Given the description of an element on the screen output the (x, y) to click on. 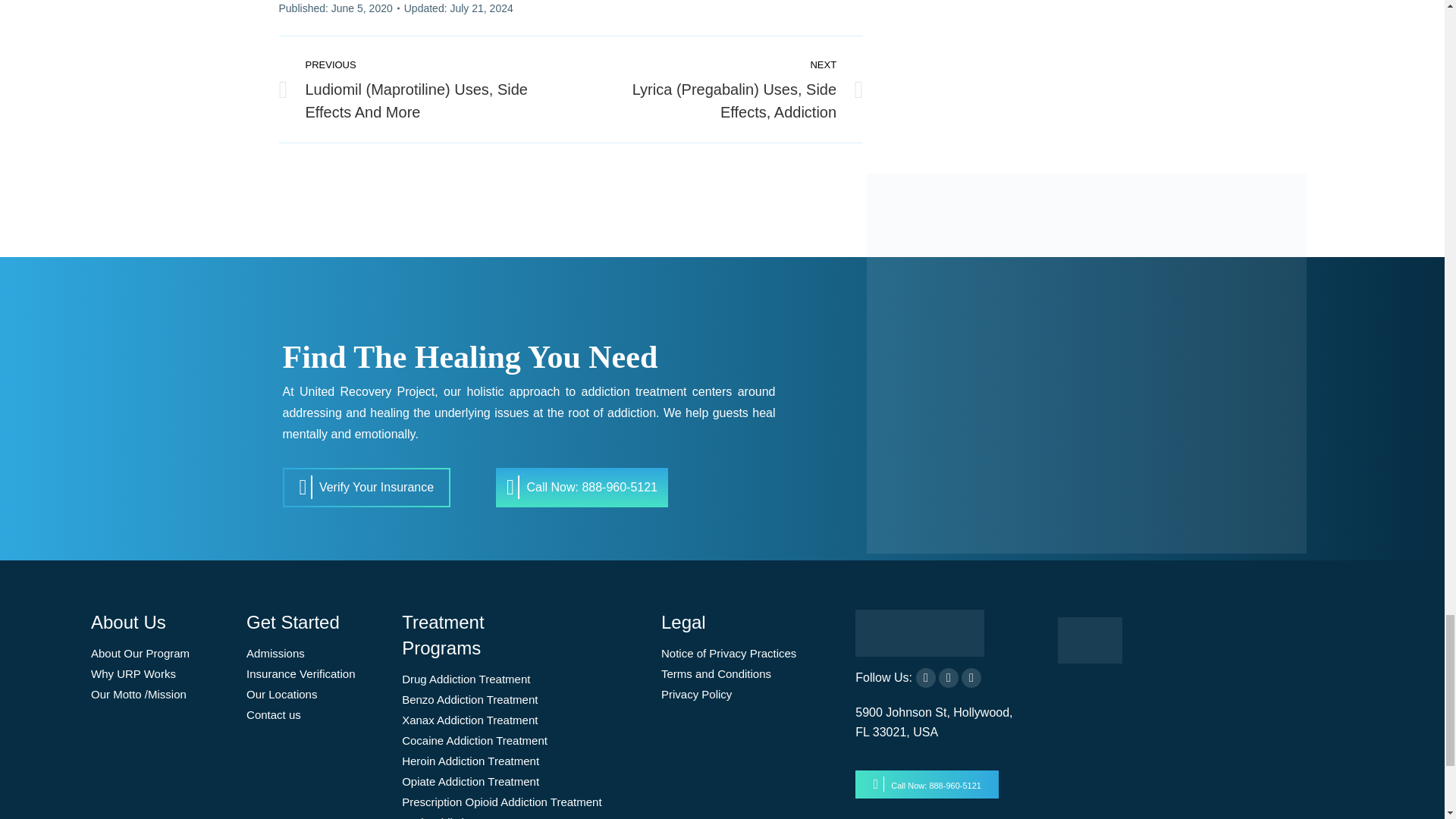
Verify LegitScript Approval (1090, 658)
Instagram page opens in new window (970, 677)
Twitter page opens in new window (948, 677)
Facebook page opens in new window (925, 677)
